Given the description of an element on the screen output the (x, y) to click on. 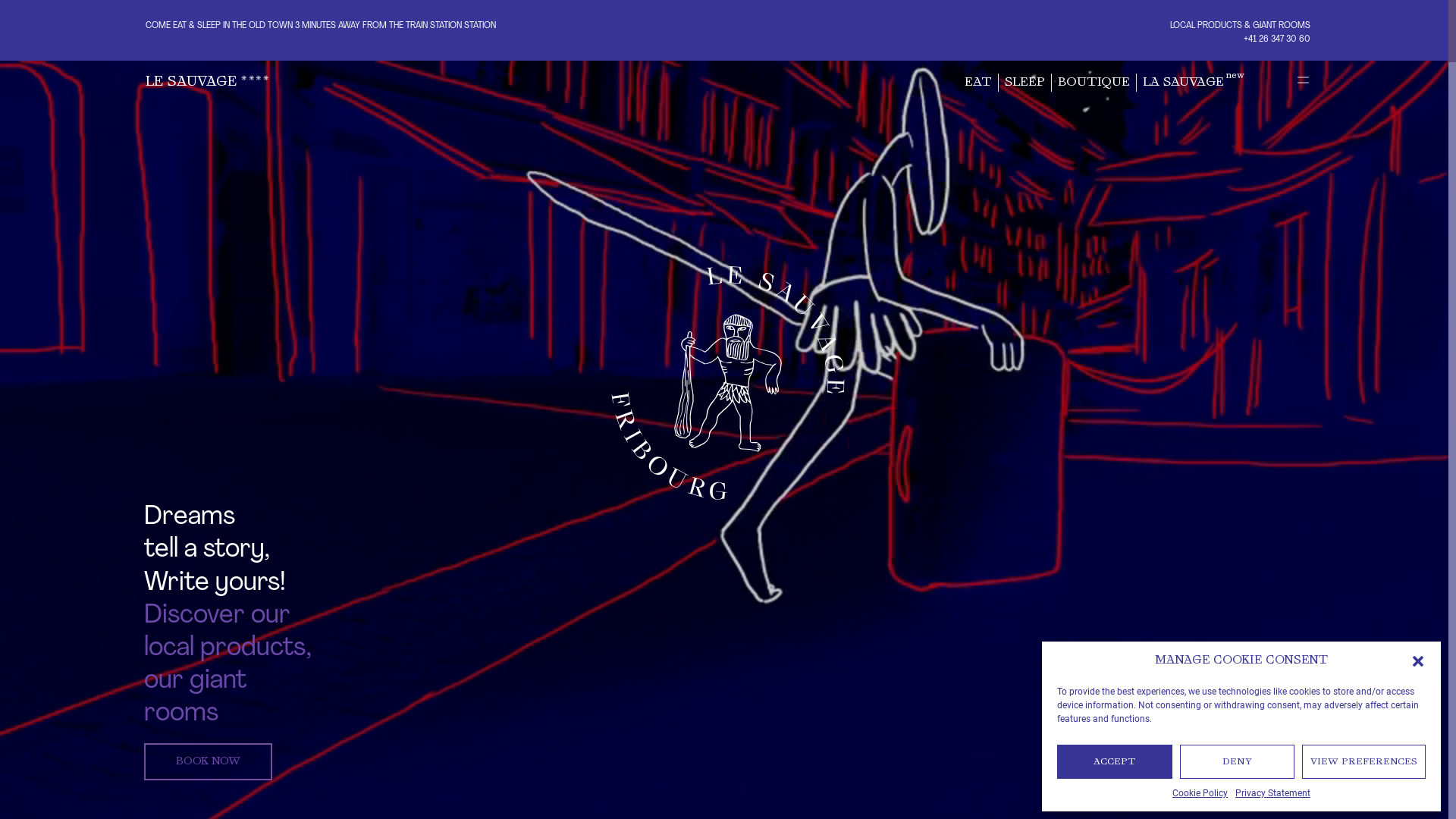
ACCEPT Element type: text (1114, 761)
EAT Element type: text (977, 82)
Cookie Policy Element type: text (1199, 793)
BOOK NOW Element type: text (208, 761)
Privacy Statement Element type: text (1272, 793)
BOUTIQUE Element type: text (1093, 82)
LA SAUVAGEnew Element type: text (1193, 82)
VIEW PREFERENCES Element type: text (1363, 761)
+41 26 347 30 60 Element type: text (1276, 38)
SLEEP Element type: text (1024, 82)
DENY Element type: text (1237, 761)
